Given the description of an element on the screen output the (x, y) to click on. 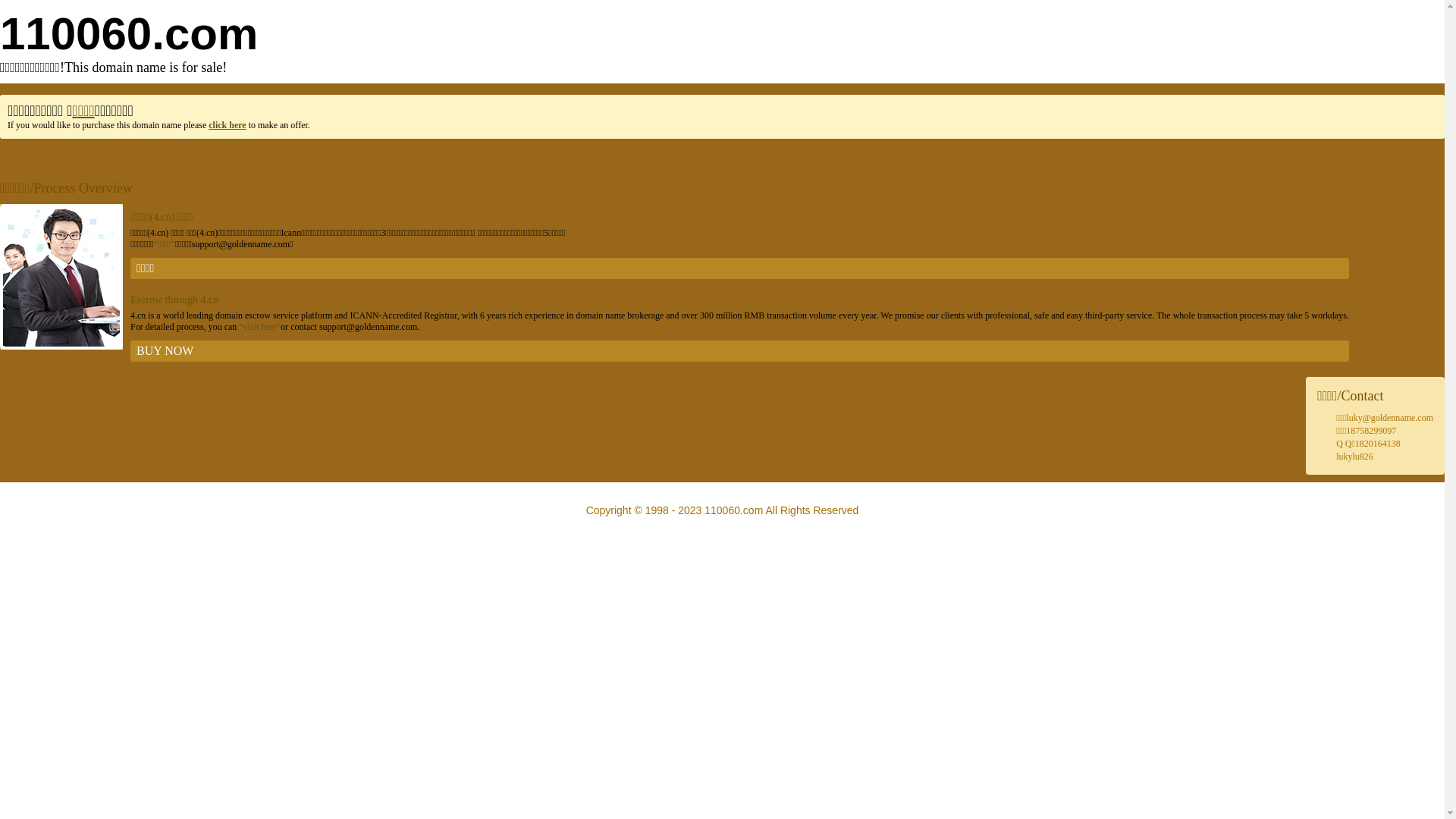
BUY NOW Element type: text (739, 350)
click here Element type: text (226, 124)
